Given the description of an element on the screen output the (x, y) to click on. 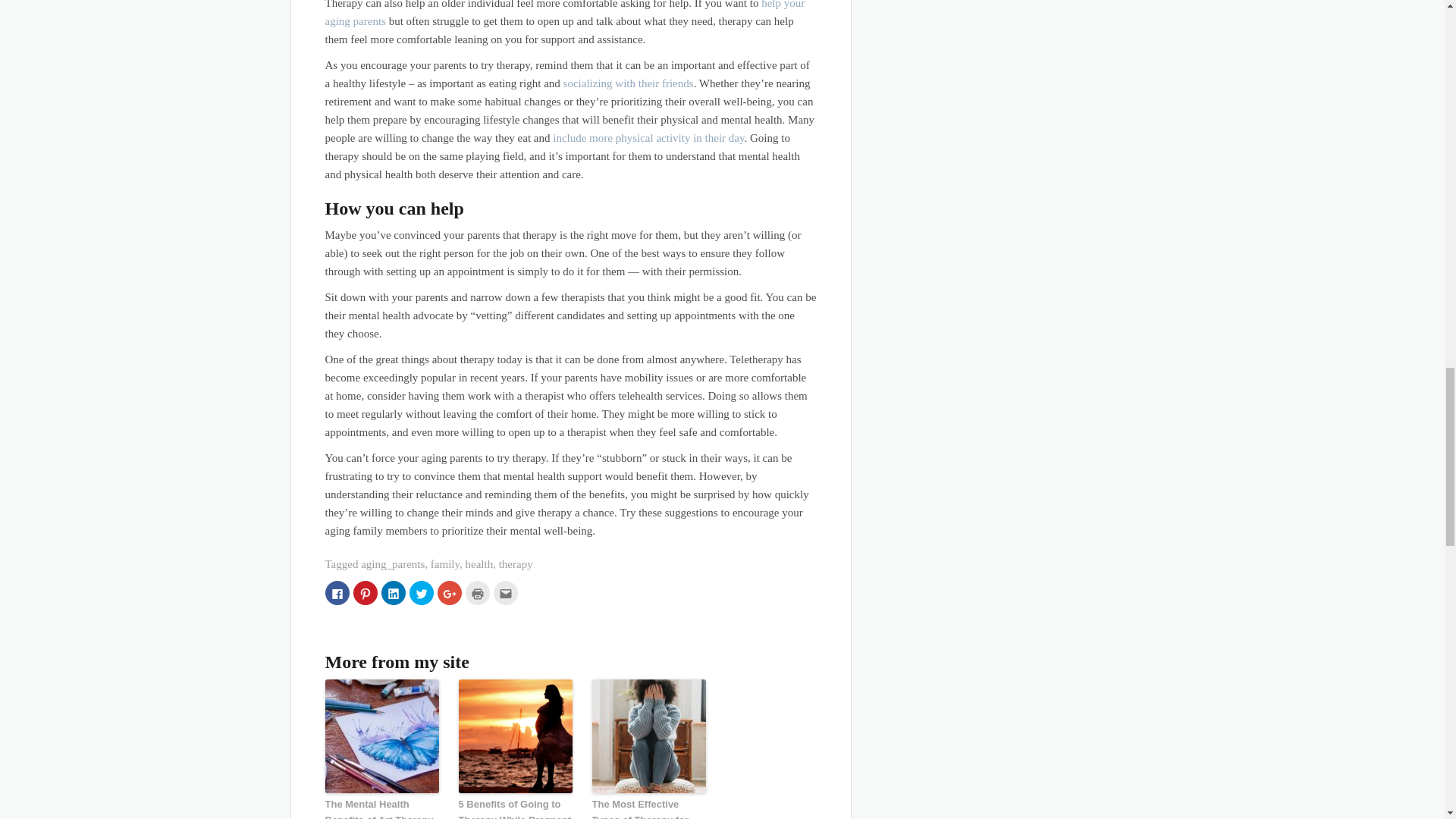
Click to share on Facebook (336, 592)
The Mental Health Benefits of Art Therapy (381, 807)
socializing with their friends (628, 82)
5 Benefits of Going to Therapy While Pregnant (515, 807)
family (445, 563)
Click to share on Twitter (421, 592)
help your aging parents (564, 13)
health (479, 563)
Click to share on Pinterest (365, 592)
